Given the description of an element on the screen output the (x, y) to click on. 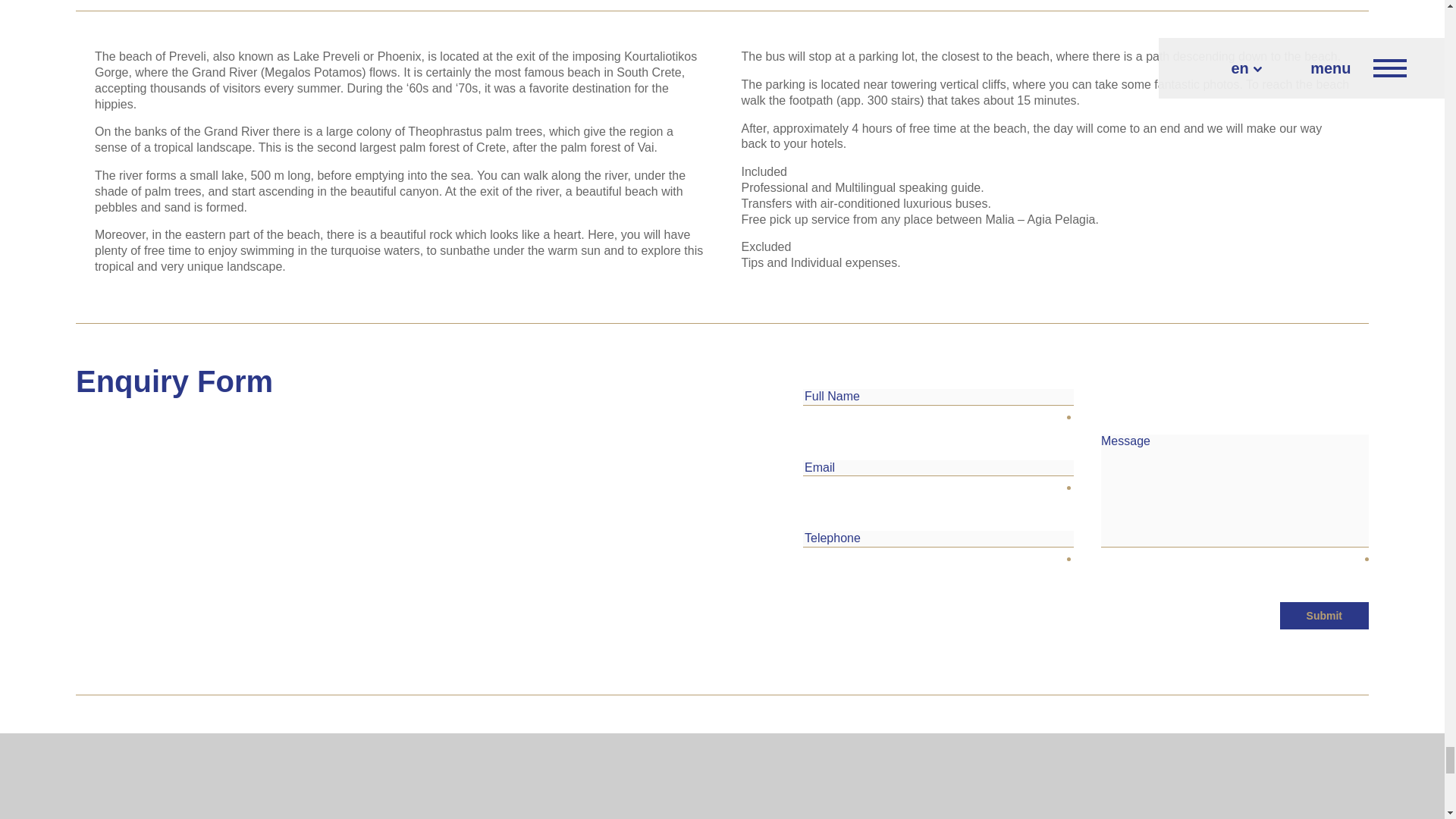
Submit (1323, 615)
Submit (1323, 615)
